Given the description of an element on the screen output the (x, y) to click on. 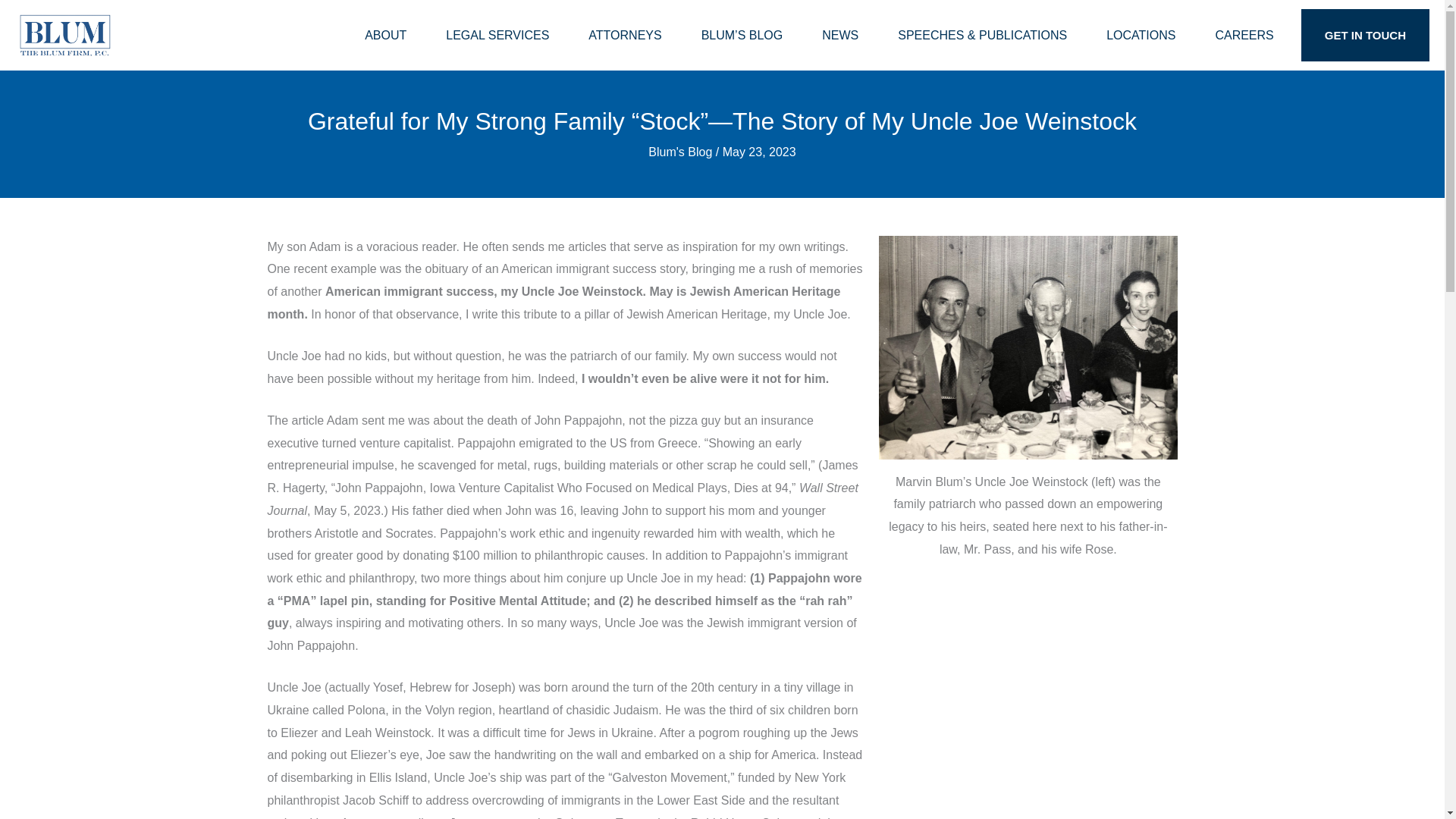
GET IN TOUCH (1365, 35)
CAREERS (1243, 35)
NEWS (839, 35)
LEGAL SERVICES (496, 35)
ATTORNEYS (624, 35)
ABOUT (385, 35)
Blum's Blog (679, 151)
LOCATIONS (1141, 35)
